Given the description of an element on the screen output the (x, y) to click on. 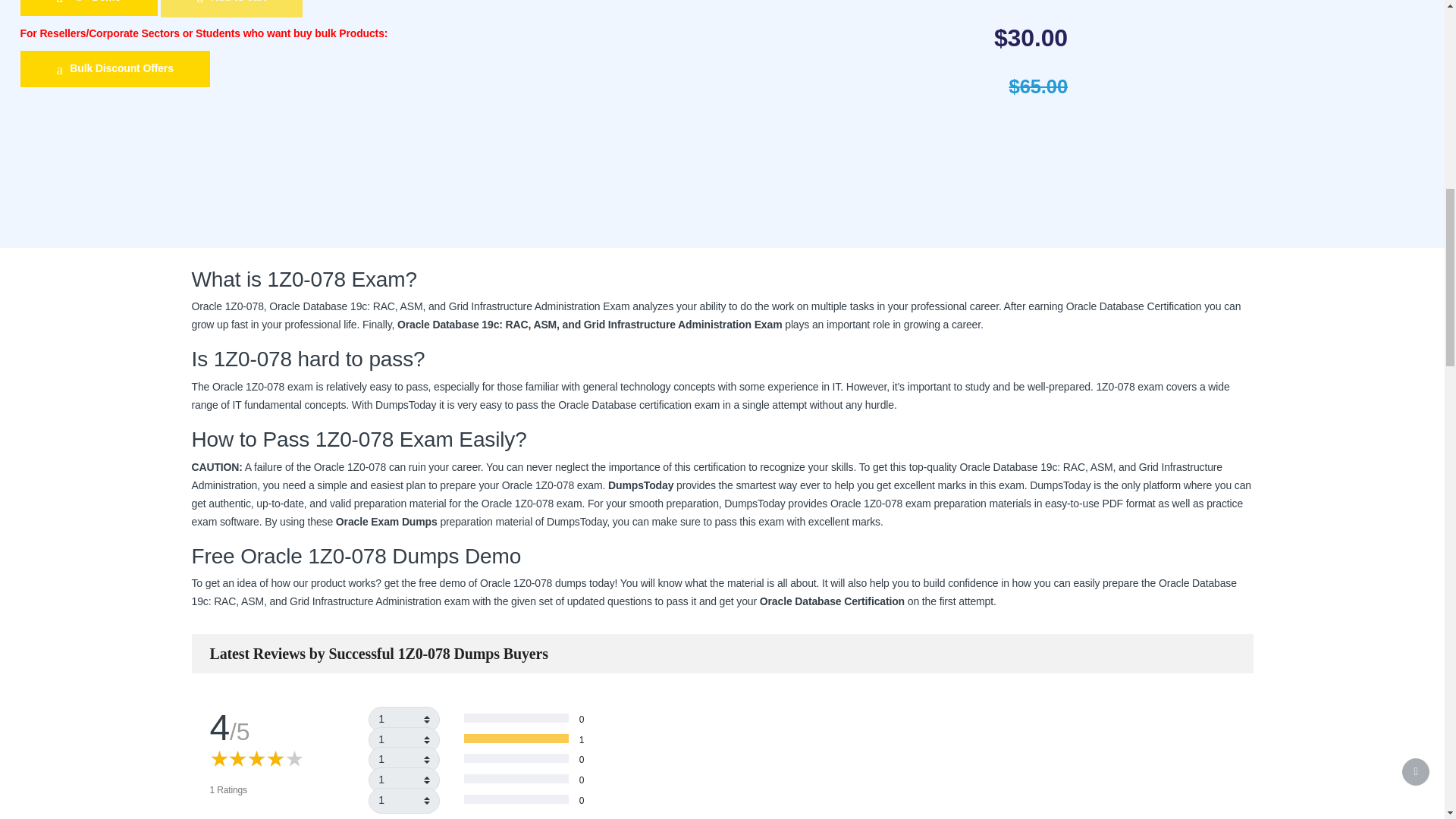
Add to cart (231, 8)
Demo (88, 7)
 Oracle Exam Dumps (387, 521)
Bulk Discount Offers (114, 68)
Oracle Exam Dumps (387, 521)
